Given the description of an element on the screen output the (x, y) to click on. 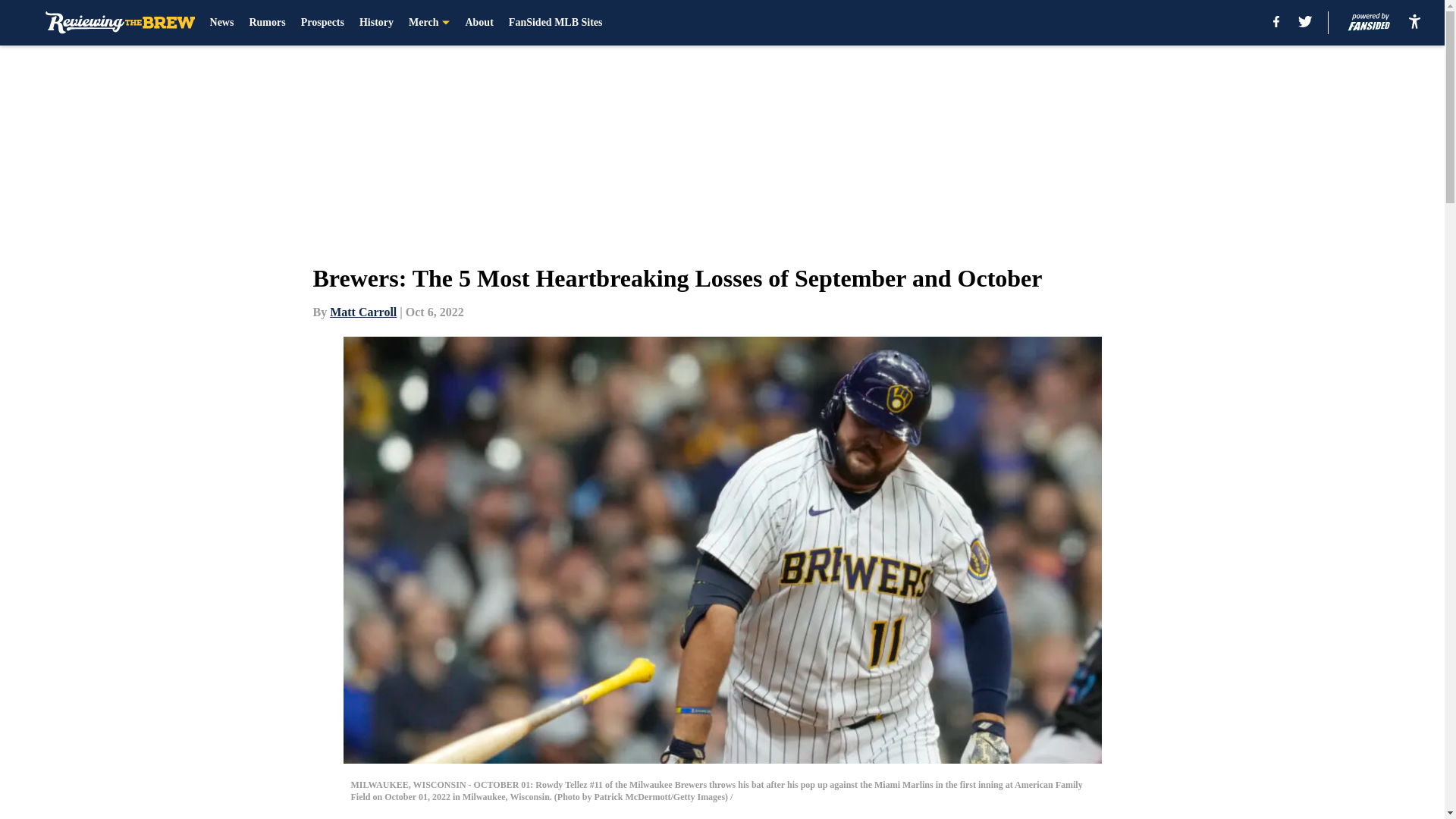
Prospects (322, 22)
History (376, 22)
Rumors (266, 22)
News (221, 22)
Matt Carroll (363, 311)
About (478, 22)
FanSided MLB Sites (555, 22)
